Given the description of an element on the screen output the (x, y) to click on. 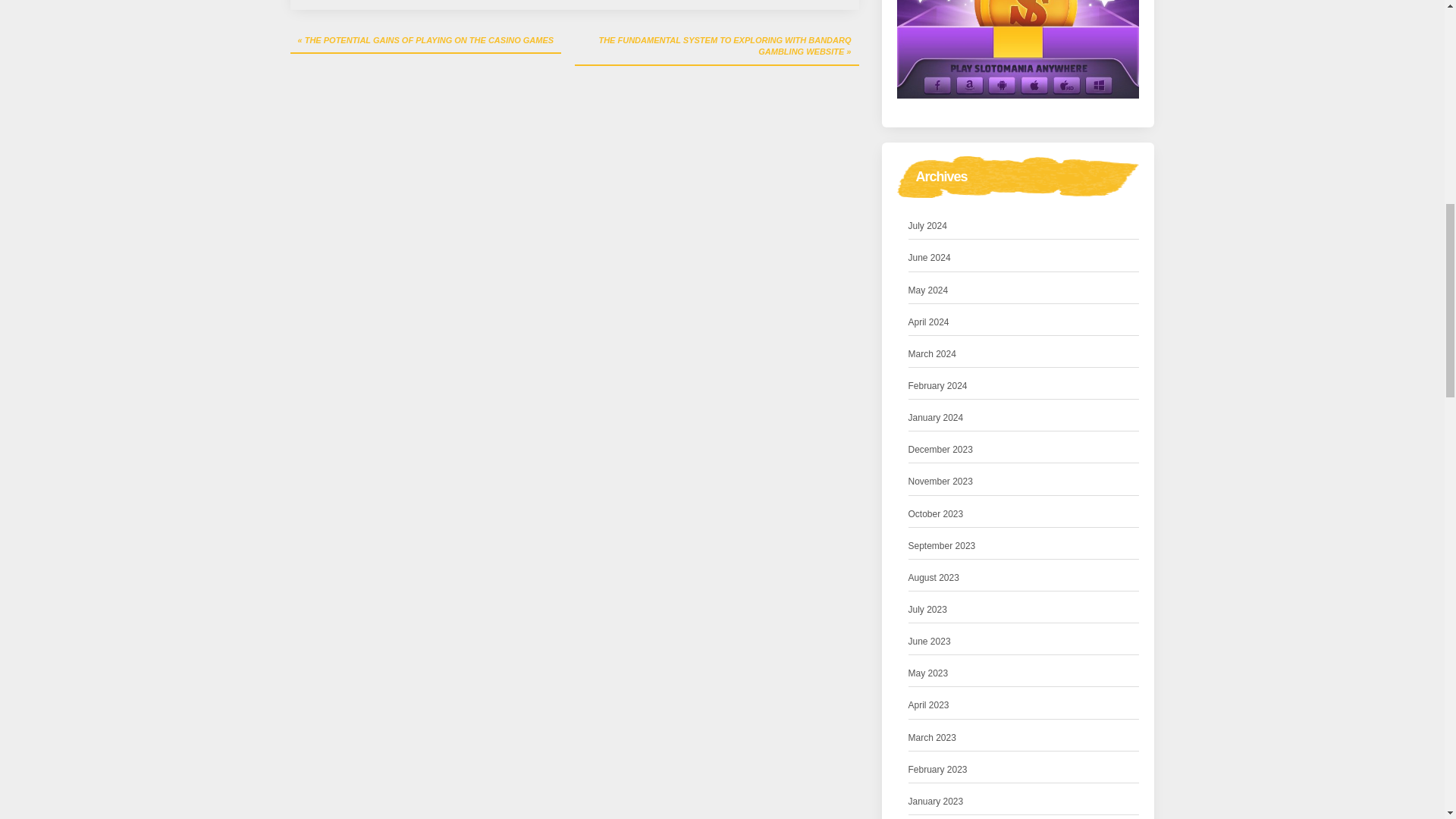
February 2024 (938, 385)
May 2024 (928, 290)
April 2024 (928, 322)
February 2023 (938, 770)
January 2023 (935, 801)
October 2023 (935, 514)
November 2023 (940, 481)
August 2023 (933, 578)
June 2023 (929, 641)
March 2023 (932, 738)
April 2023 (928, 705)
December 2023 (940, 449)
September 2023 (941, 546)
July 2023 (927, 609)
